Given the description of an element on the screen output the (x, y) to click on. 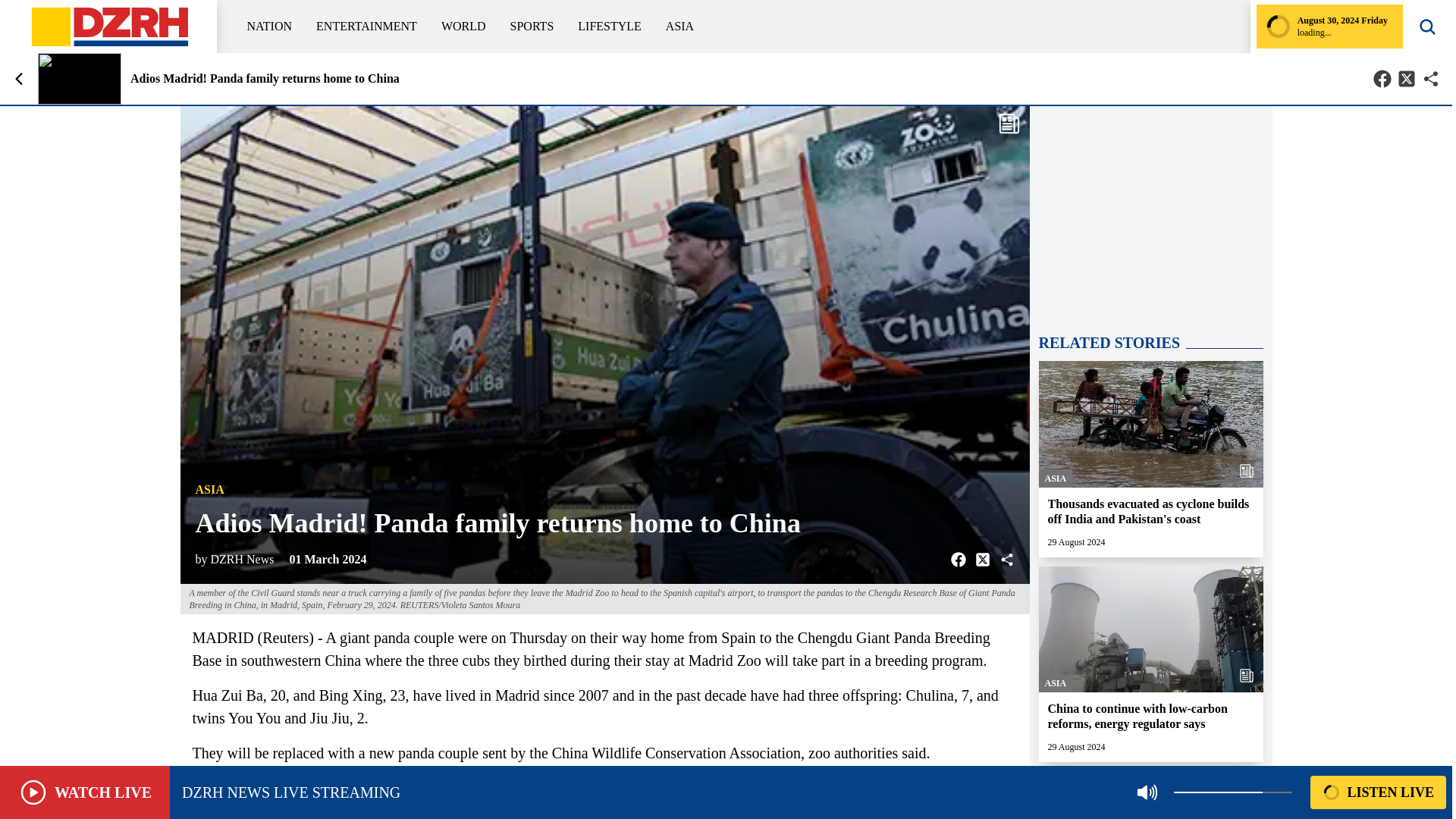
WORLD (463, 25)
NATION (269, 25)
LIFESTYLE (610, 25)
SPORTS (532, 25)
ASIA (679, 25)
ENTERTAINMENT (365, 25)
